Given the description of an element on the screen output the (x, y) to click on. 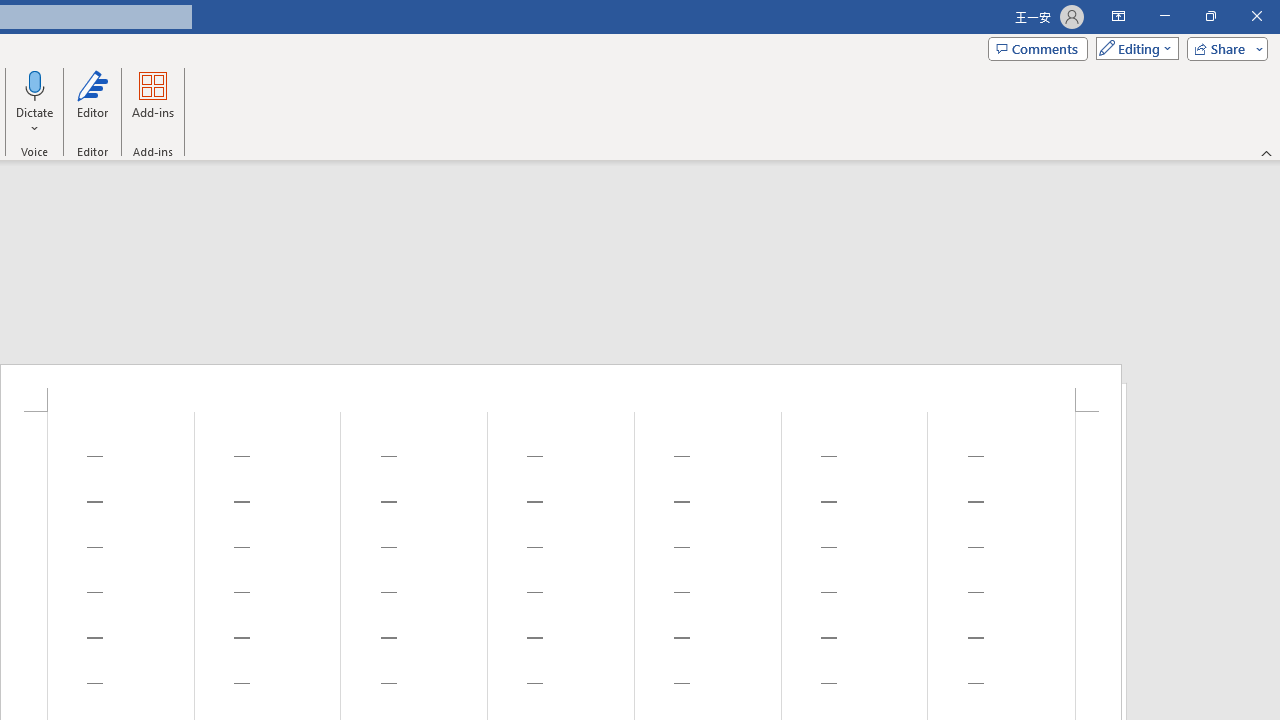
Share (1223, 48)
Collapse the Ribbon (1267, 152)
Comments (1038, 48)
Editor (92, 102)
Dictate (35, 102)
Dictate (35, 84)
Ribbon Display Options (1118, 16)
Minimize (1164, 16)
Header -Section 1- (561, 387)
More Options (35, 121)
Mode (1133, 47)
Close (1256, 16)
